Given the description of an element on the screen output the (x, y) to click on. 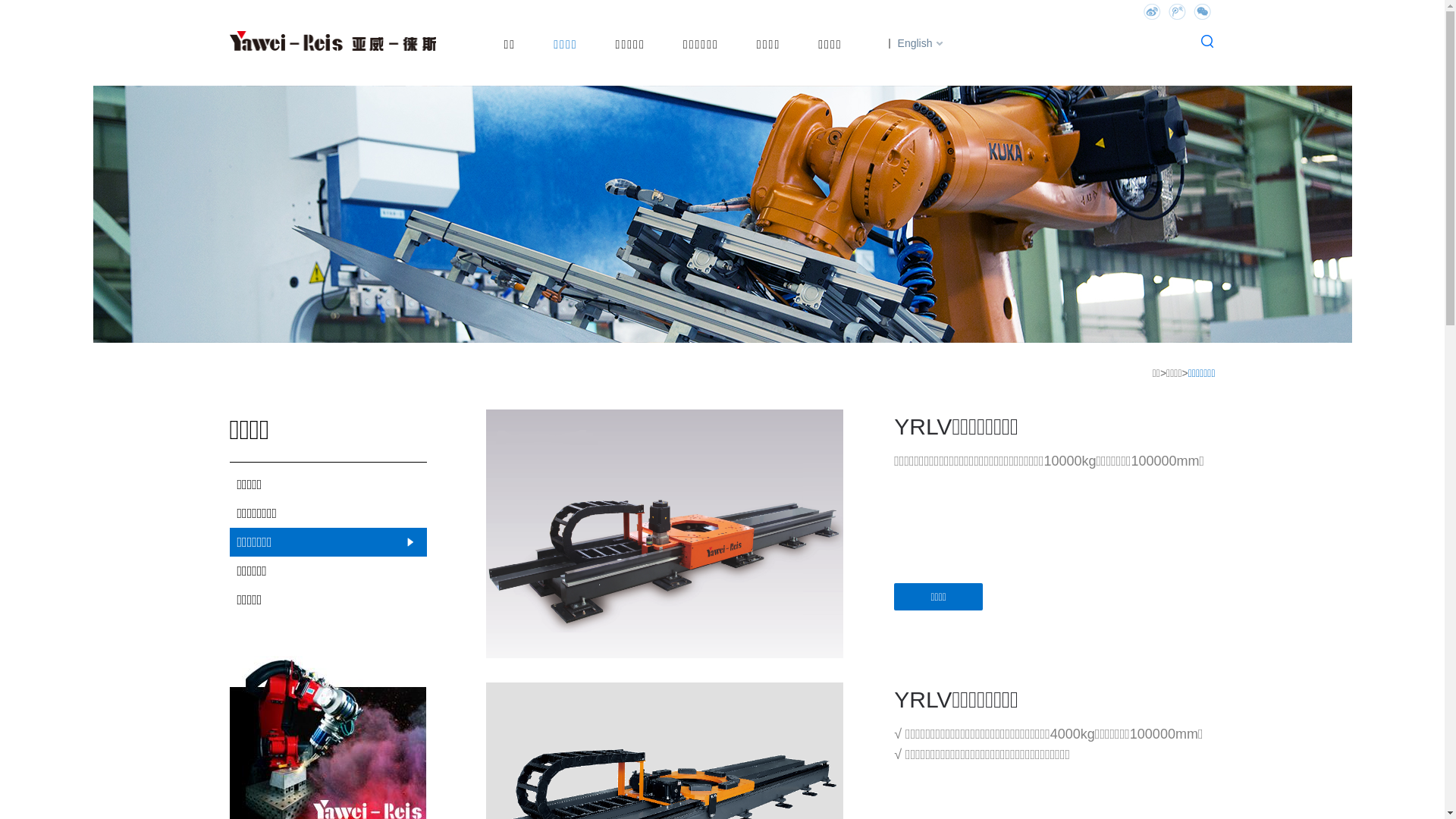
English Element type: text (911, 42)
